Given the description of an element on the screen output the (x, y) to click on. 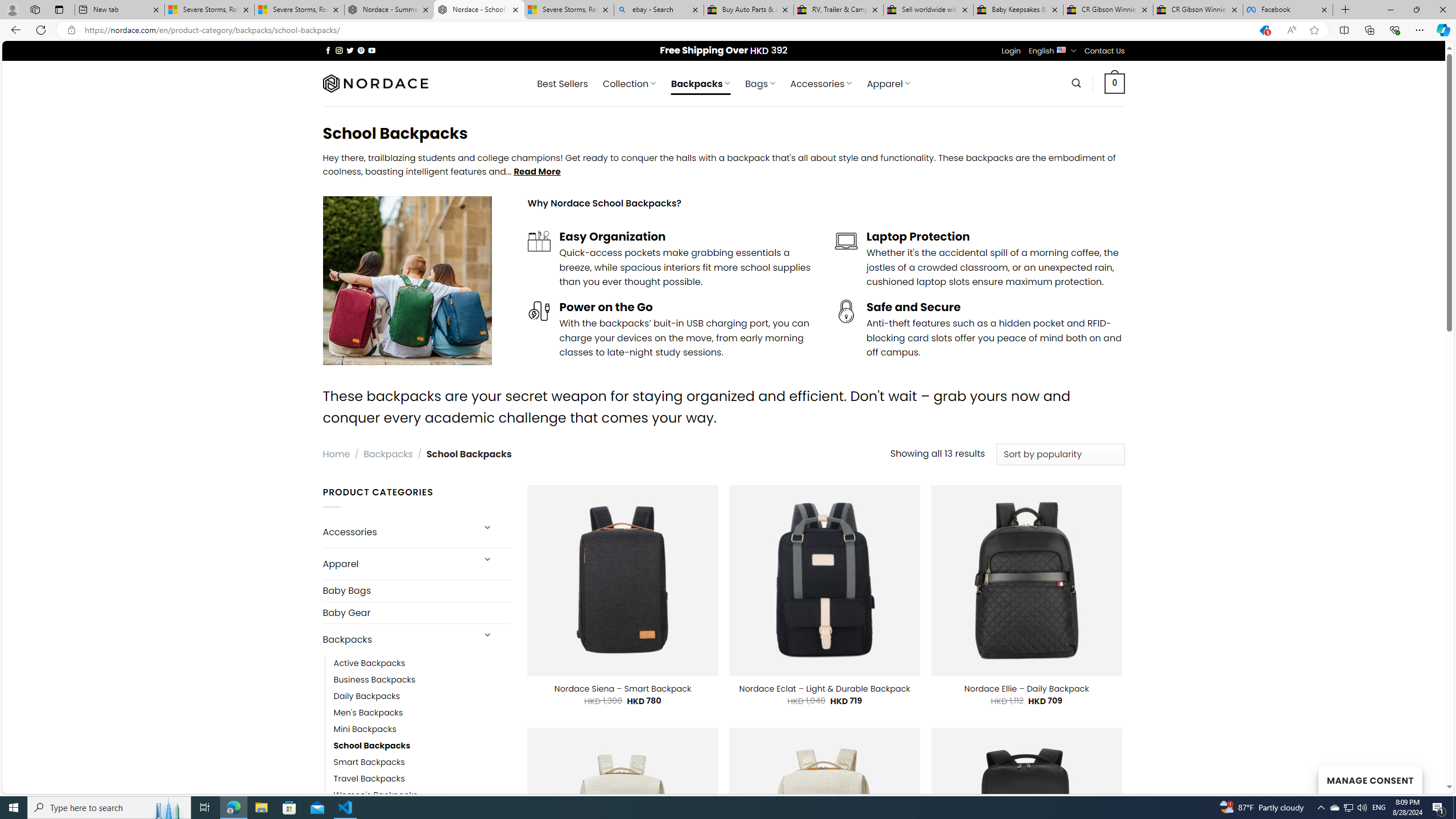
Login (1010, 50)
Facebook (1287, 9)
Daily Backpacks (366, 696)
Follow on Pinterest (360, 49)
Follow on YouTube (371, 49)
Travel Backpacks (422, 778)
Smart Backpacks (422, 762)
 0  (1115, 83)
Active Backpacks (369, 663)
Baby Gear (416, 612)
